Given the description of an element on the screen output the (x, y) to click on. 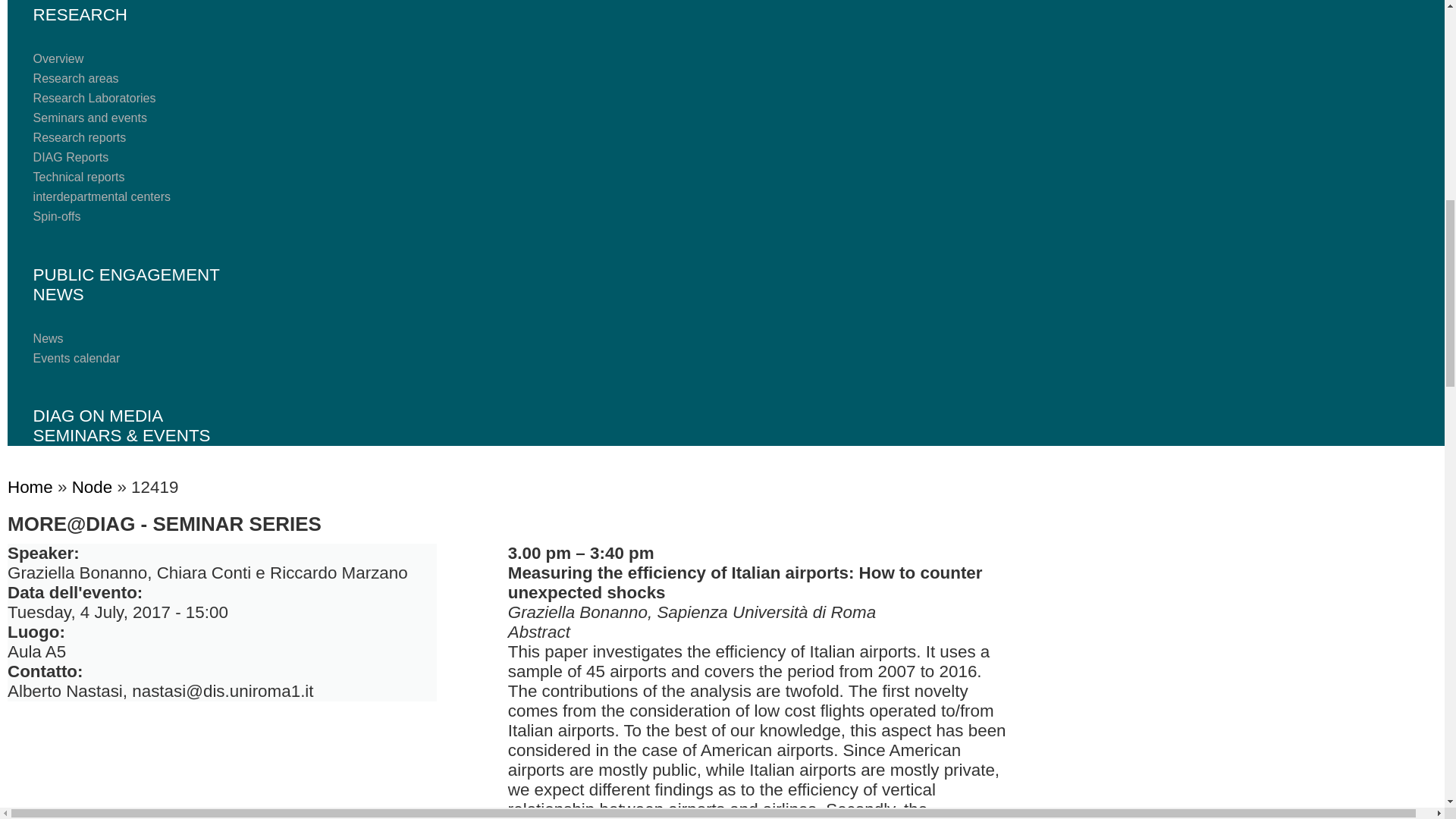
RESEARCH (99, 14)
Events calendar (76, 358)
News (48, 338)
Research Laboratories (94, 97)
Research areas (76, 78)
NEWS (77, 294)
Seminars and events (90, 117)
Research reports (79, 137)
Technical reports (79, 176)
Spin-offs (57, 215)
PUBLIC ENGAGEMENT (126, 274)
interdepartmental centers (101, 196)
DIAG Reports (71, 156)
Overview (58, 58)
